Given the description of an element on the screen output the (x, y) to click on. 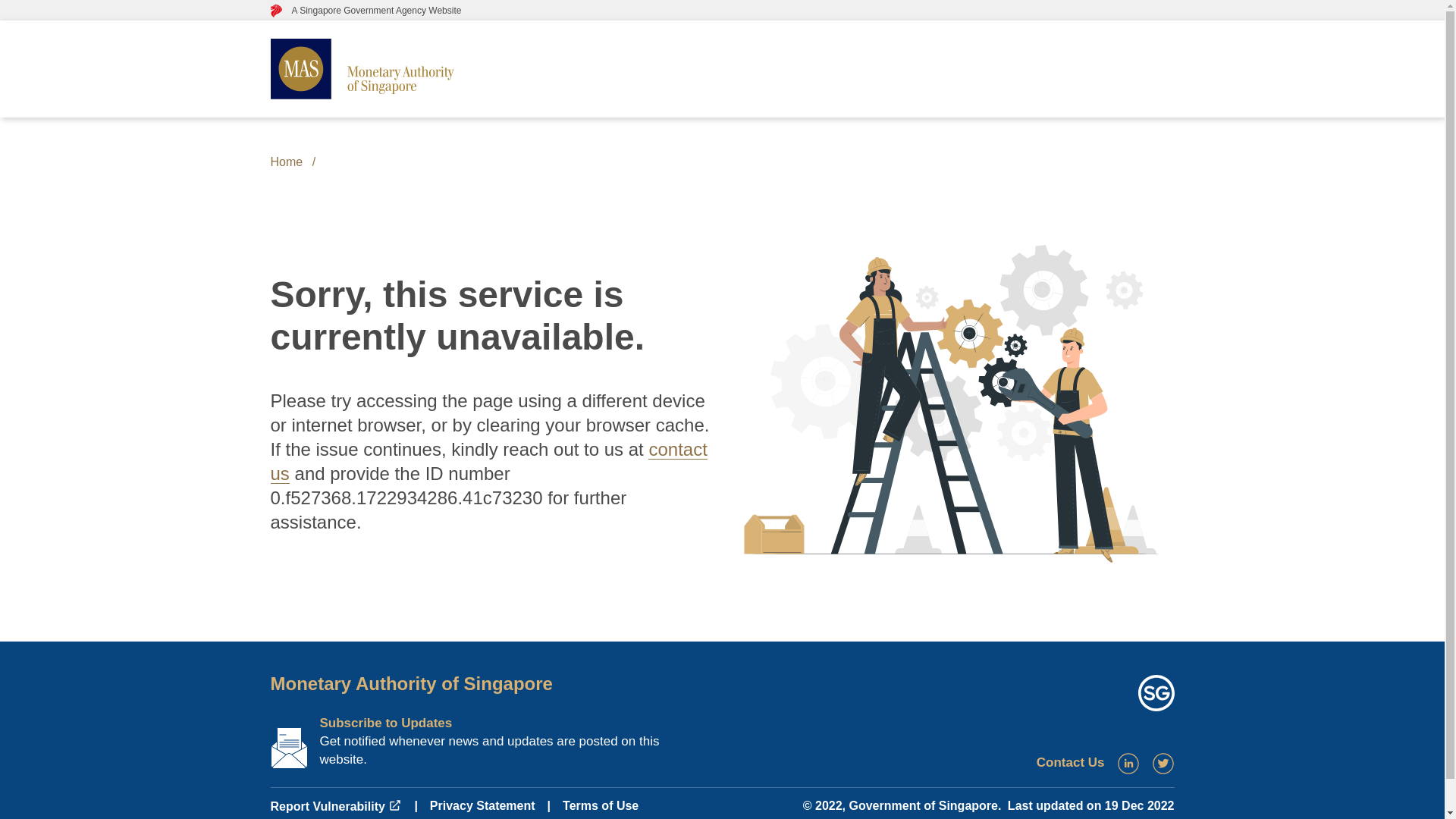
Privacy Statement (482, 805)
Home (285, 161)
Contact Us (1070, 762)
A Singapore Government Agency Website (365, 10)
Terms of Use (600, 805)
contact us (487, 461)
Report Vulnerability (335, 806)
Monetary Authority of Singapore (410, 683)
